Given the description of an element on the screen output the (x, y) to click on. 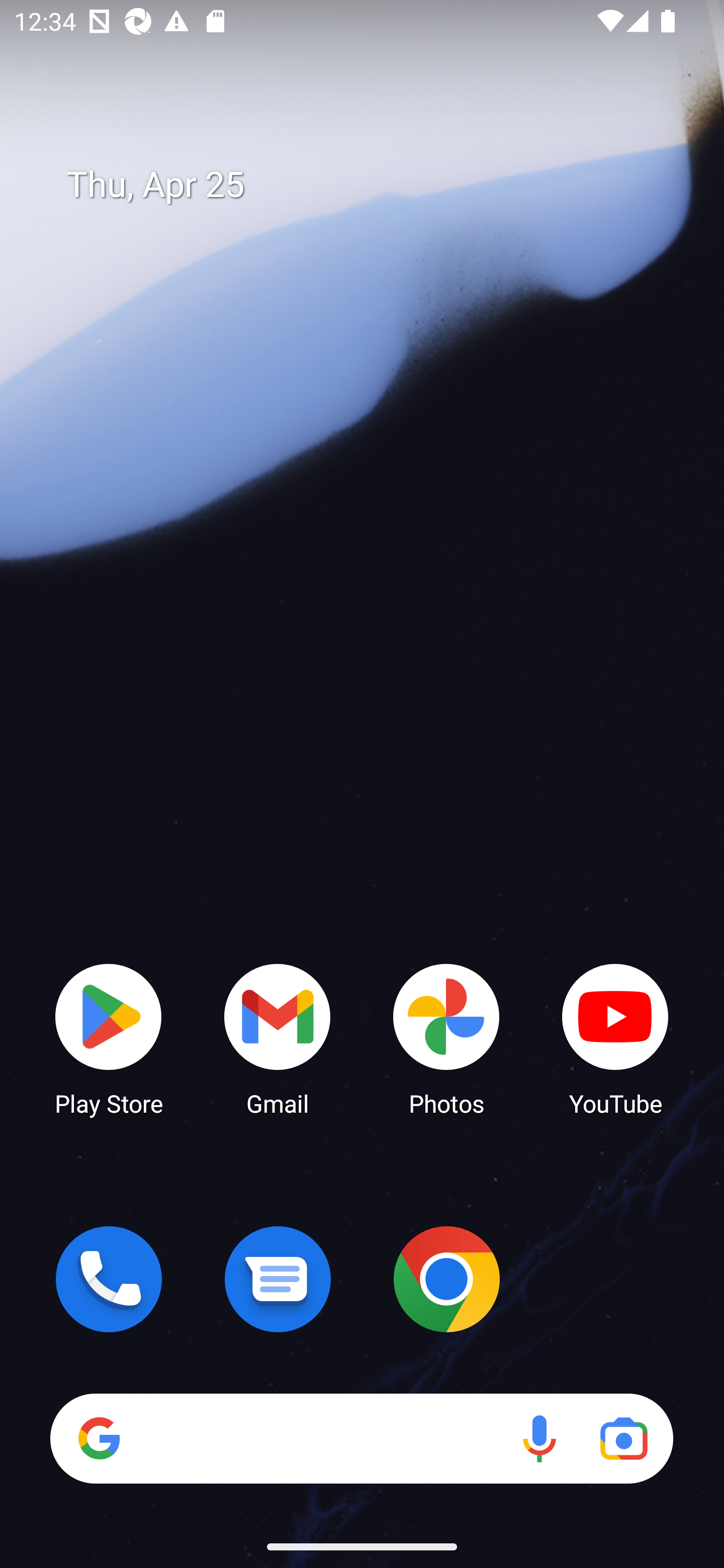
Thu, Apr 25 (375, 184)
Play Store (108, 1038)
Gmail (277, 1038)
Photos (445, 1038)
YouTube (615, 1038)
Phone (108, 1279)
Messages (277, 1279)
Chrome (446, 1279)
Search Voice search Google Lens (361, 1438)
Voice search (539, 1438)
Google Lens (623, 1438)
